Given the description of an element on the screen output the (x, y) to click on. 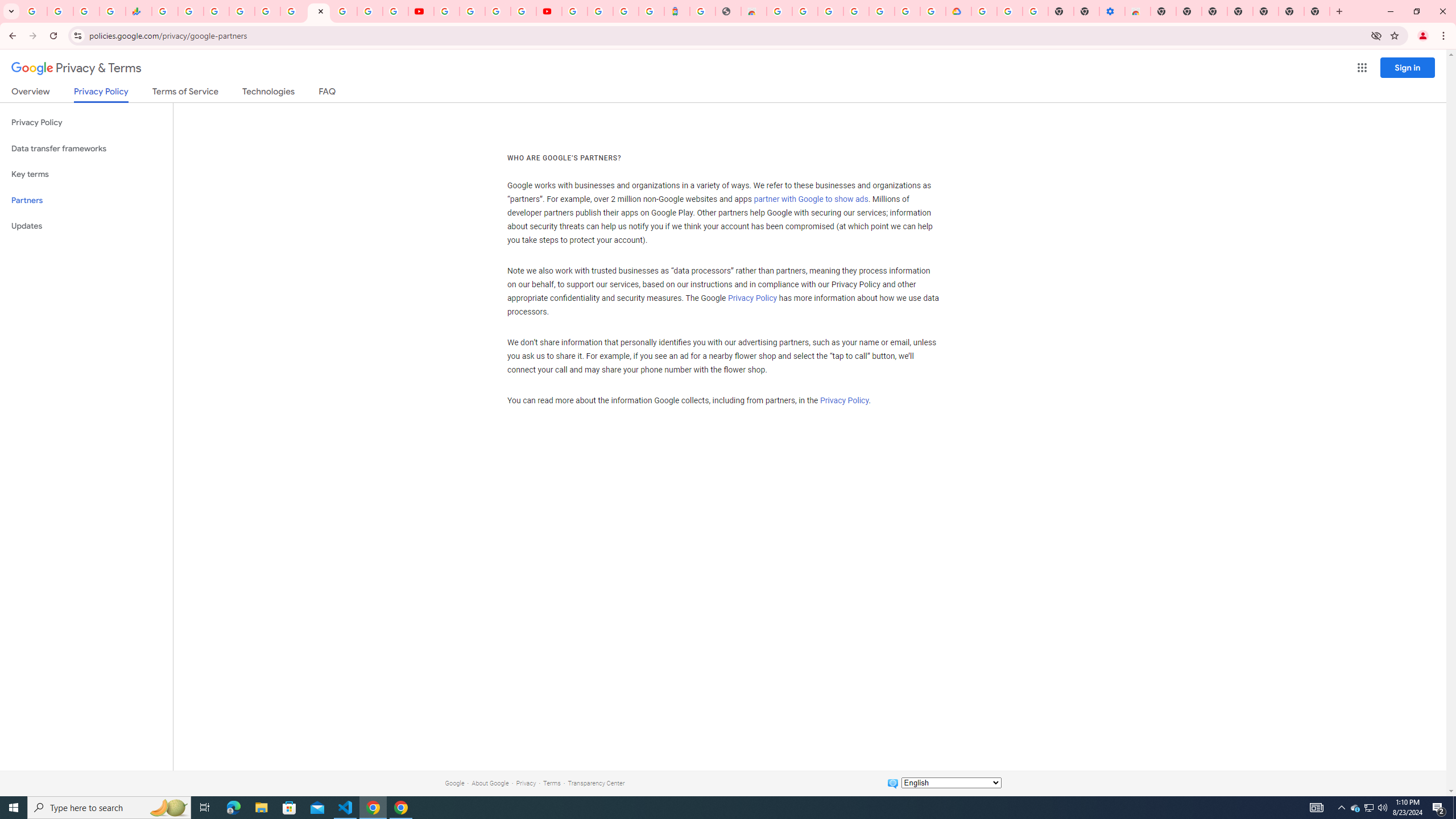
New Tab (1265, 11)
Create your Google Account (497, 11)
Google Account Help (472, 11)
Turn cookies on or off - Computer - Google Account Help (1034, 11)
About Google (490, 783)
New Tab (1316, 11)
